Given the description of an element on the screen output the (x, y) to click on. 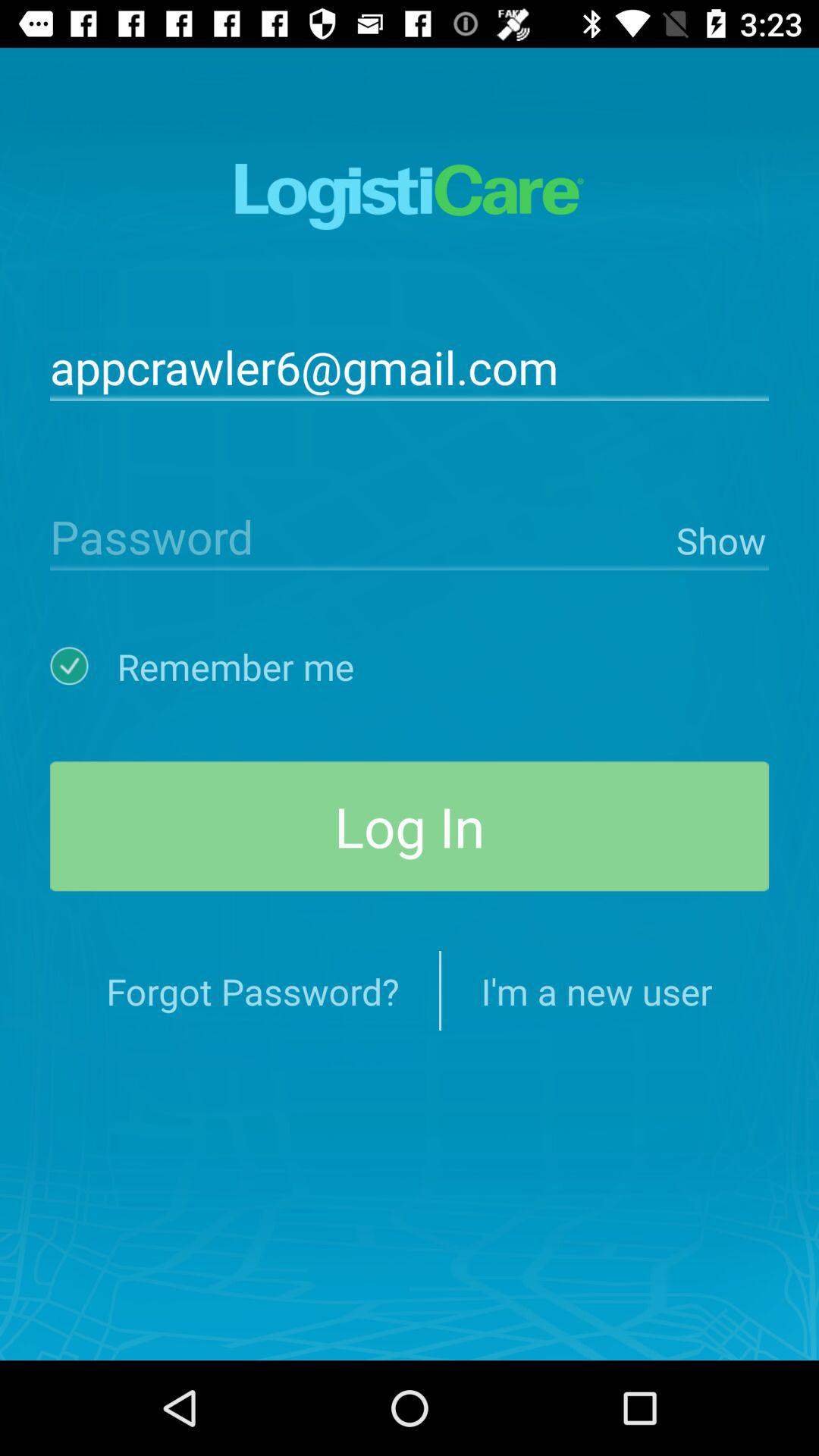
jump until show item (718, 536)
